Given the description of an element on the screen output the (x, y) to click on. 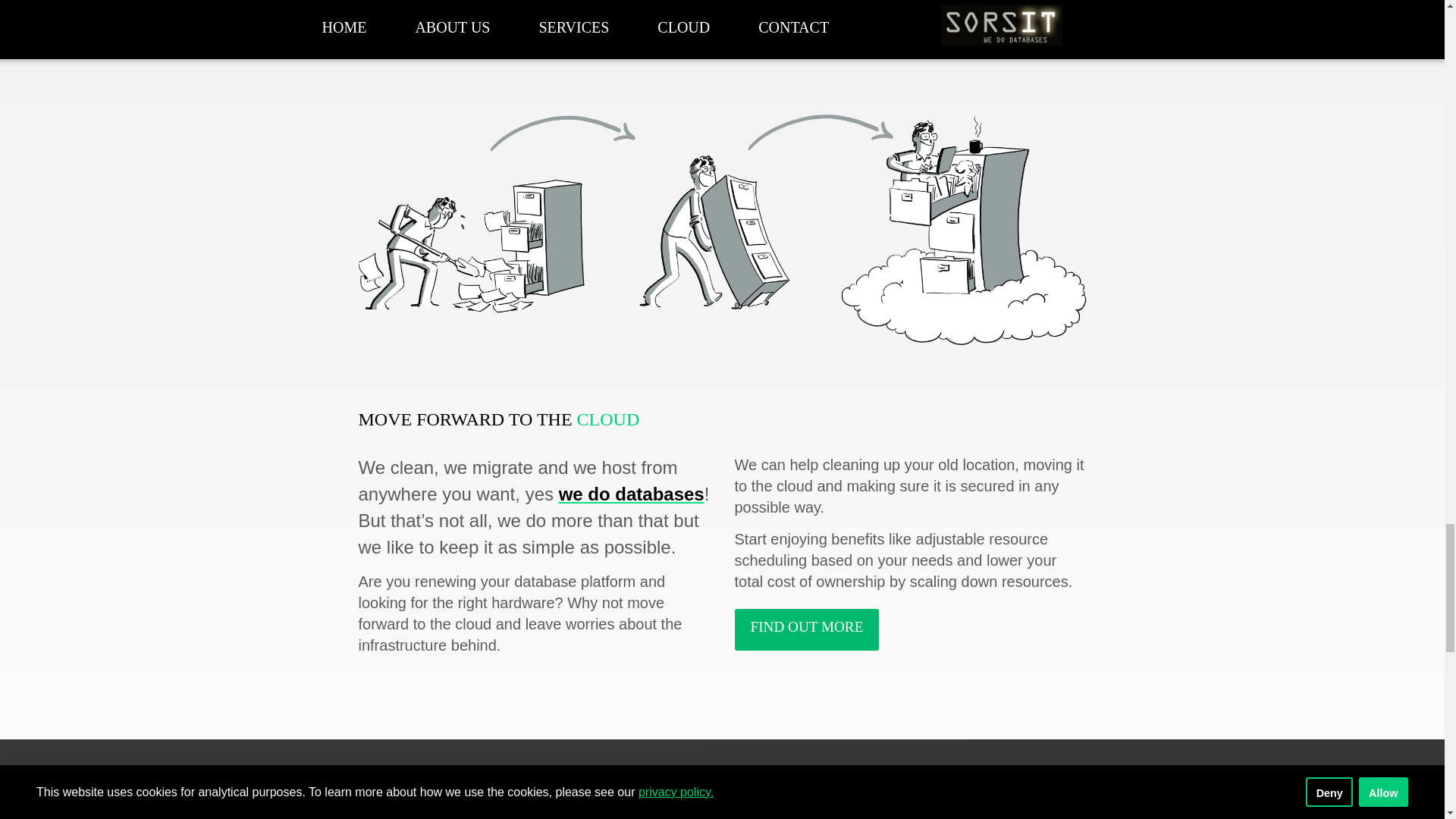
FIND OUT MORE (806, 629)
we do databases (631, 494)
